Given the description of an element on the screen output the (x, y) to click on. 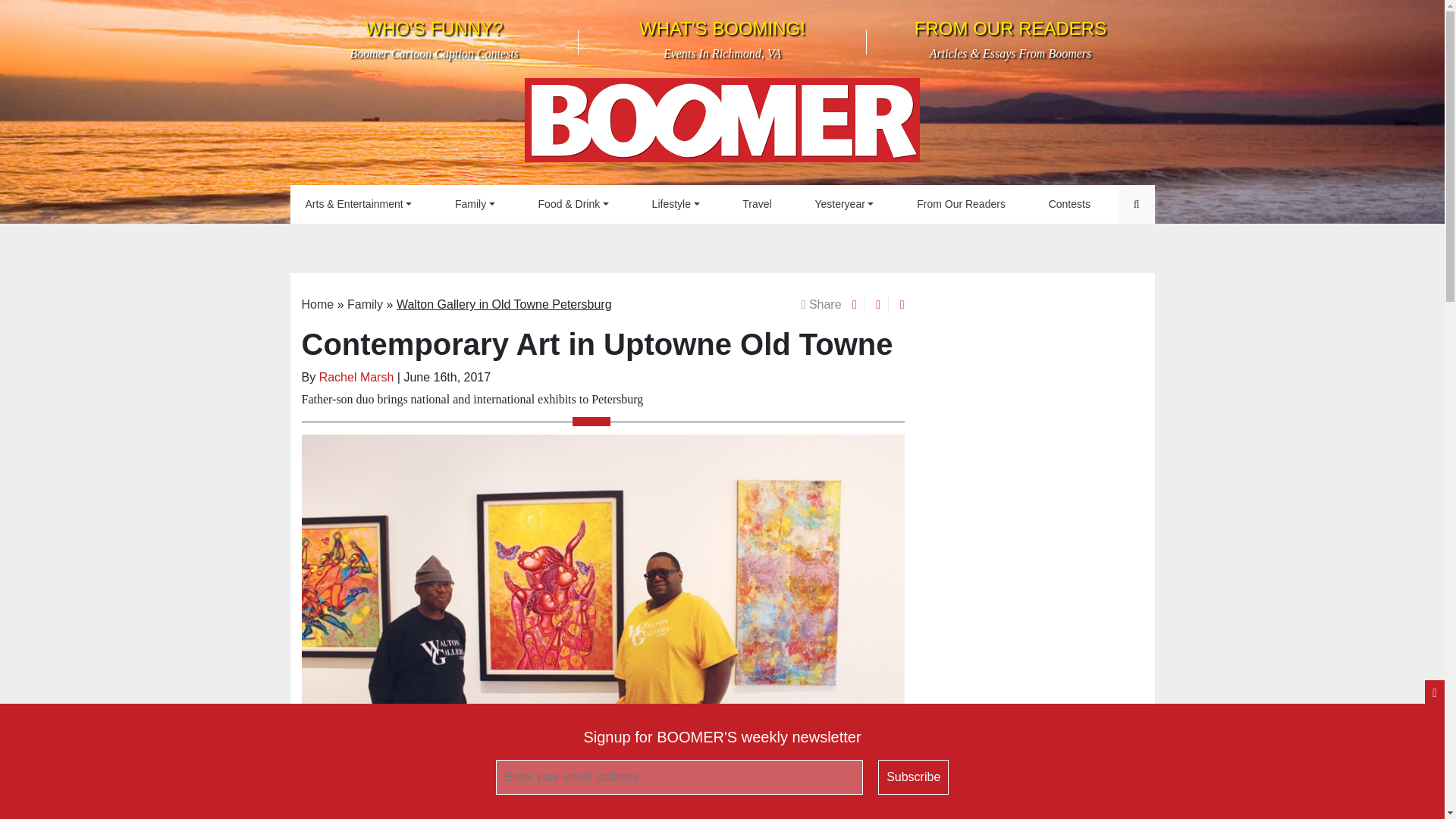
Contests (1069, 204)
From Our Readers (960, 204)
Family (475, 204)
Family (475, 204)
BOOMER Magazine (722, 124)
Yesteryear (843, 204)
Lifestyle (722, 39)
Travel (675, 204)
Subscribe (434, 39)
